Given the description of an element on the screen output the (x, y) to click on. 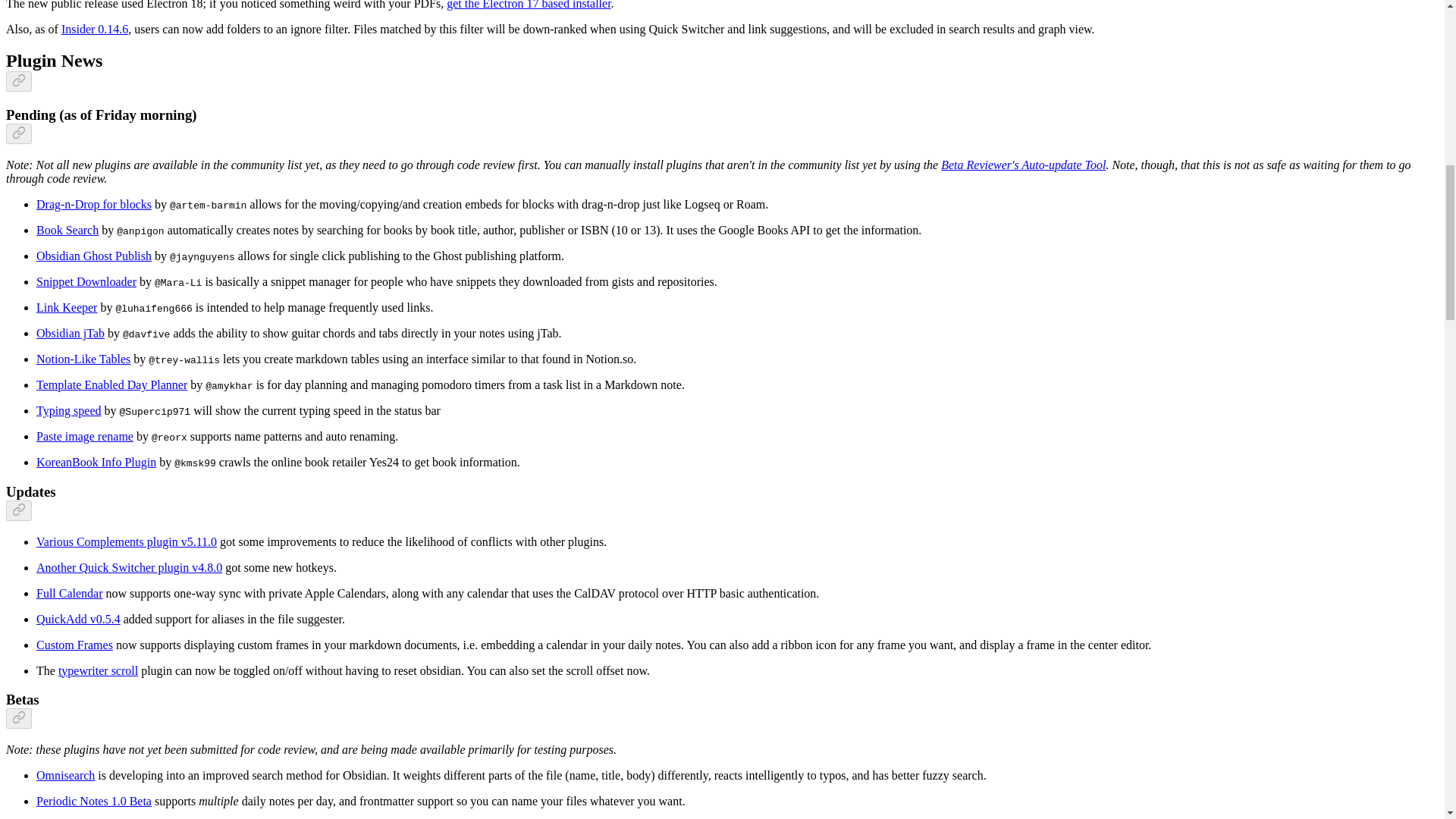
Obsidian Ghost Publish (93, 255)
Paste image rename (84, 436)
get the Electron 17 based installer (528, 4)
Book Search (67, 229)
Notion-Like Tables (83, 358)
Insider 0.14.6 (94, 29)
Snippet Downloader (86, 281)
Drag-n-Drop for blocks (93, 204)
Various Complements plugin v5.11.0 (126, 541)
Link Keeper (66, 307)
Obsidian jTab (70, 332)
Typing speed (68, 410)
KoreanBook Info Plugin (95, 461)
Beta Reviewer's Auto-update Tool (1022, 164)
Template Enabled Day Planner (111, 384)
